Given the description of an element on the screen output the (x, y) to click on. 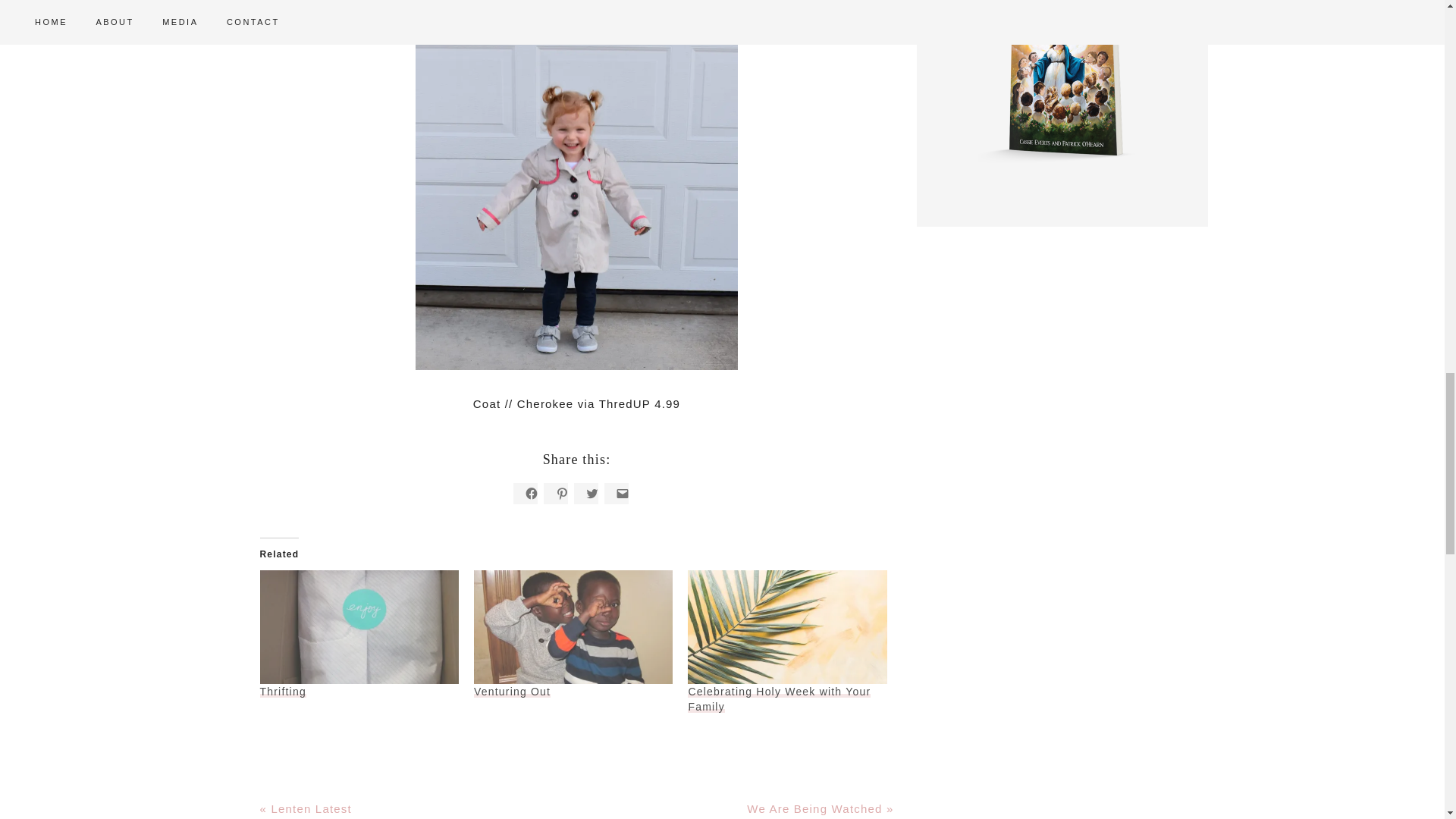
Celebrating Holy Week with Your Family (778, 698)
Click to email a link to a friend (615, 493)
Click to share on Pinterest (555, 493)
Thrifting (282, 691)
Venturing Out (512, 691)
Thrifting (358, 626)
Celebrating Holy Week with Your Family (778, 698)
Click to share on Facebook (524, 493)
Venturing Out (573, 626)
Celebrating Holy Week with Your Family (786, 626)
Thrifting (282, 691)
Click to share on Twitter (584, 493)
Venturing Out (512, 691)
